Given the description of an element on the screen output the (x, y) to click on. 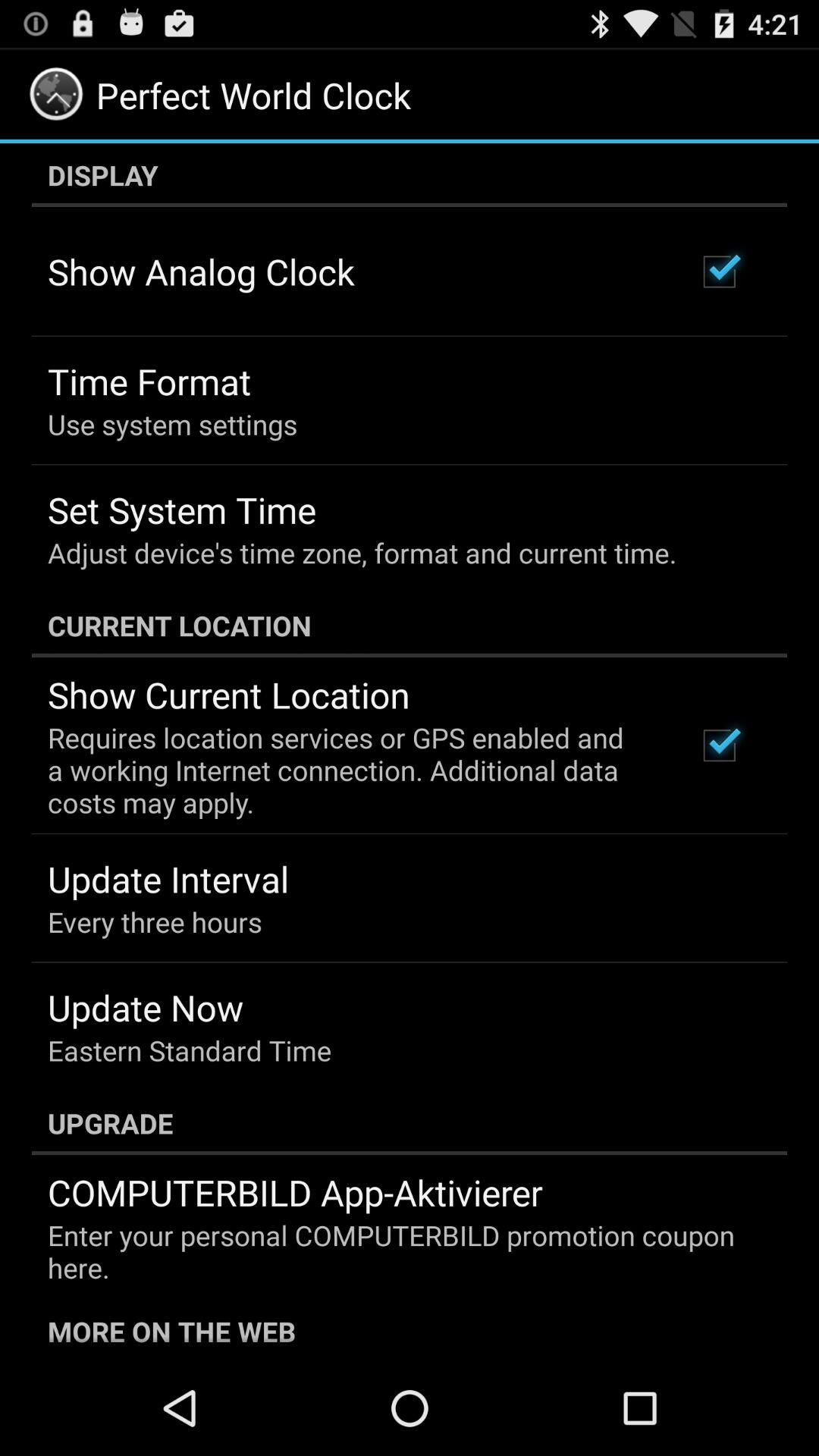
turn off set system time (181, 509)
